Given the description of an element on the screen output the (x, y) to click on. 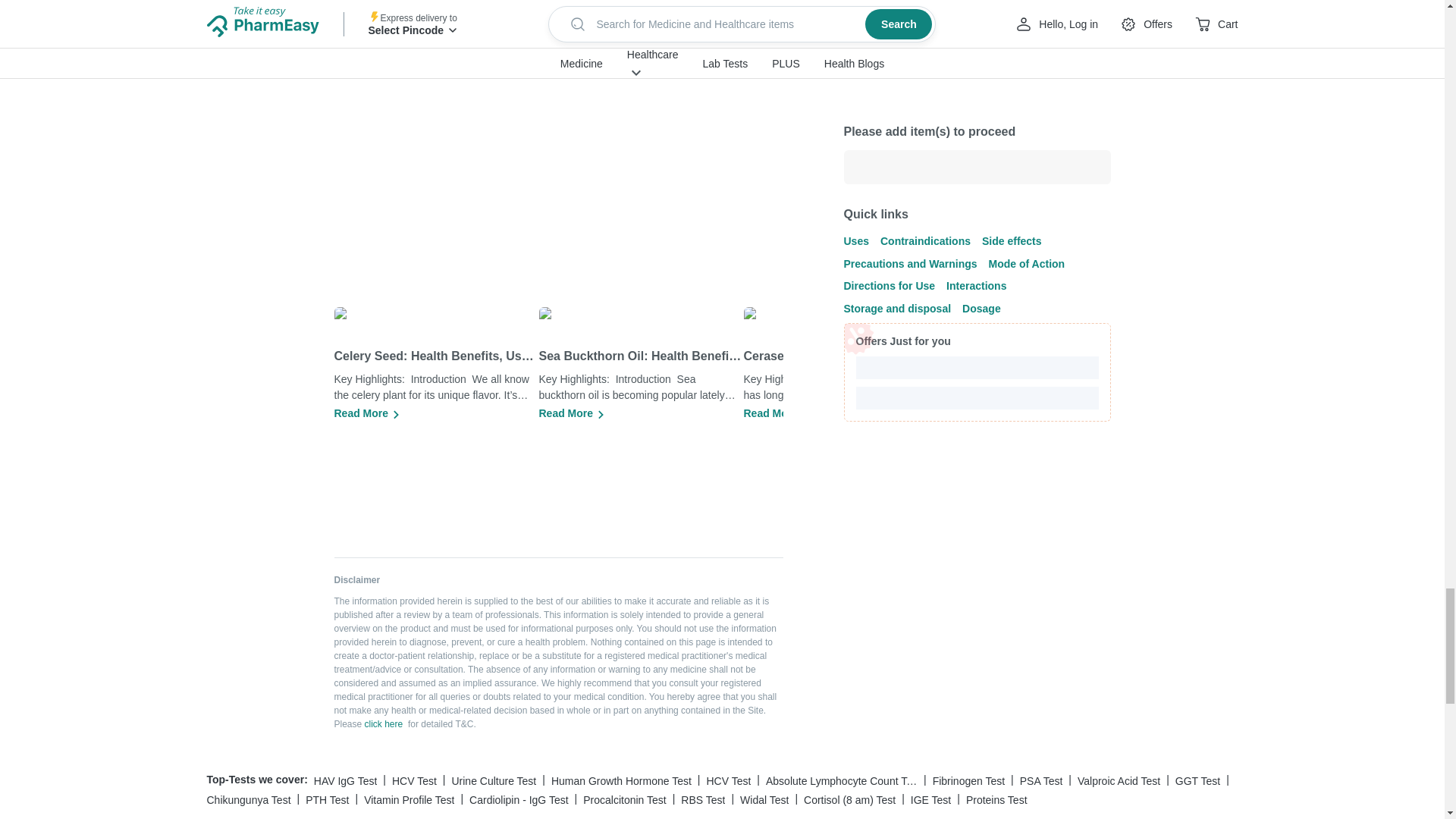
See All (665, 72)
click here (384, 724)
